Given the description of an element on the screen output the (x, y) to click on. 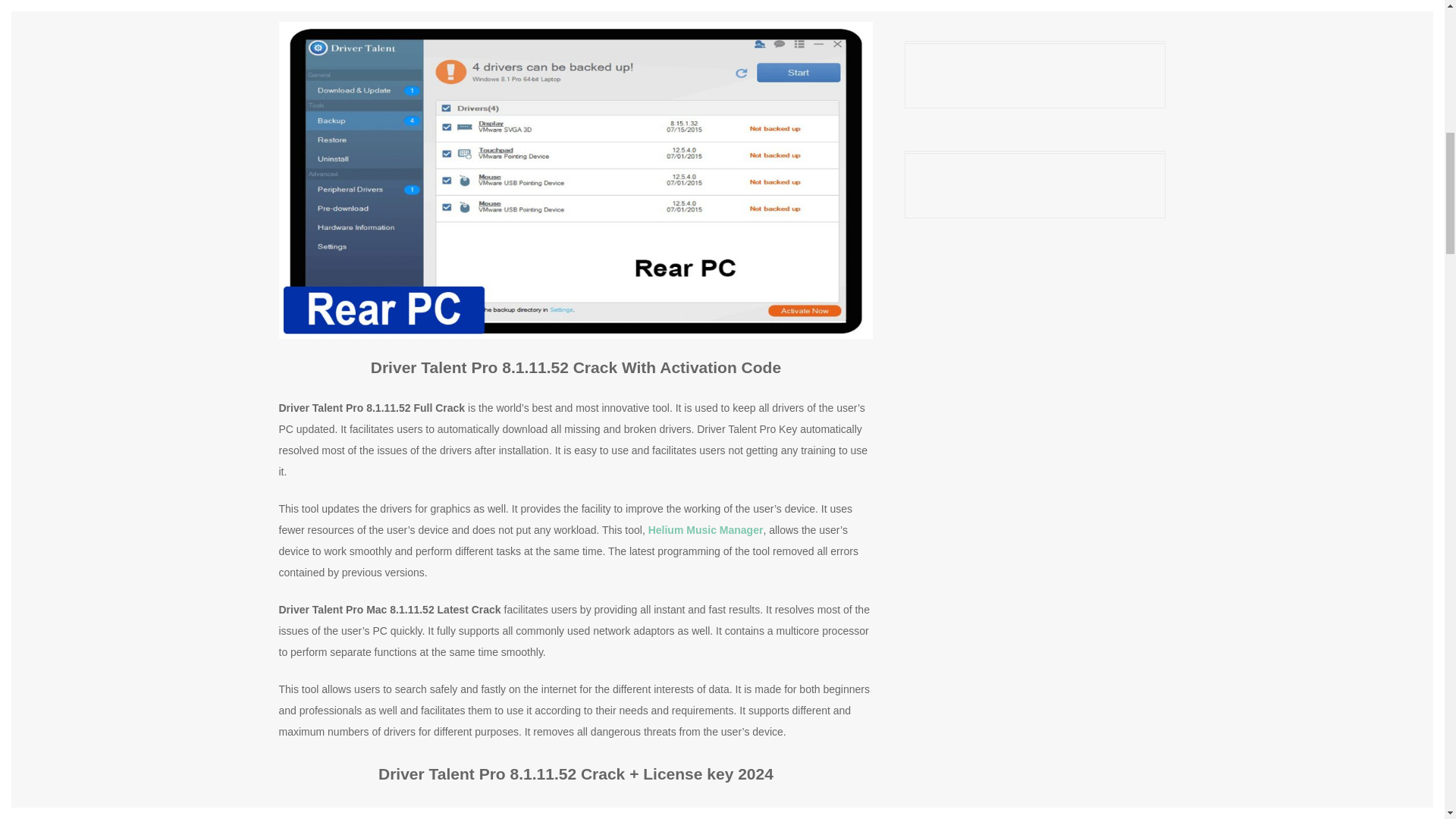
Helium Music Manager (704, 530)
